Given the description of an element on the screen output the (x, y) to click on. 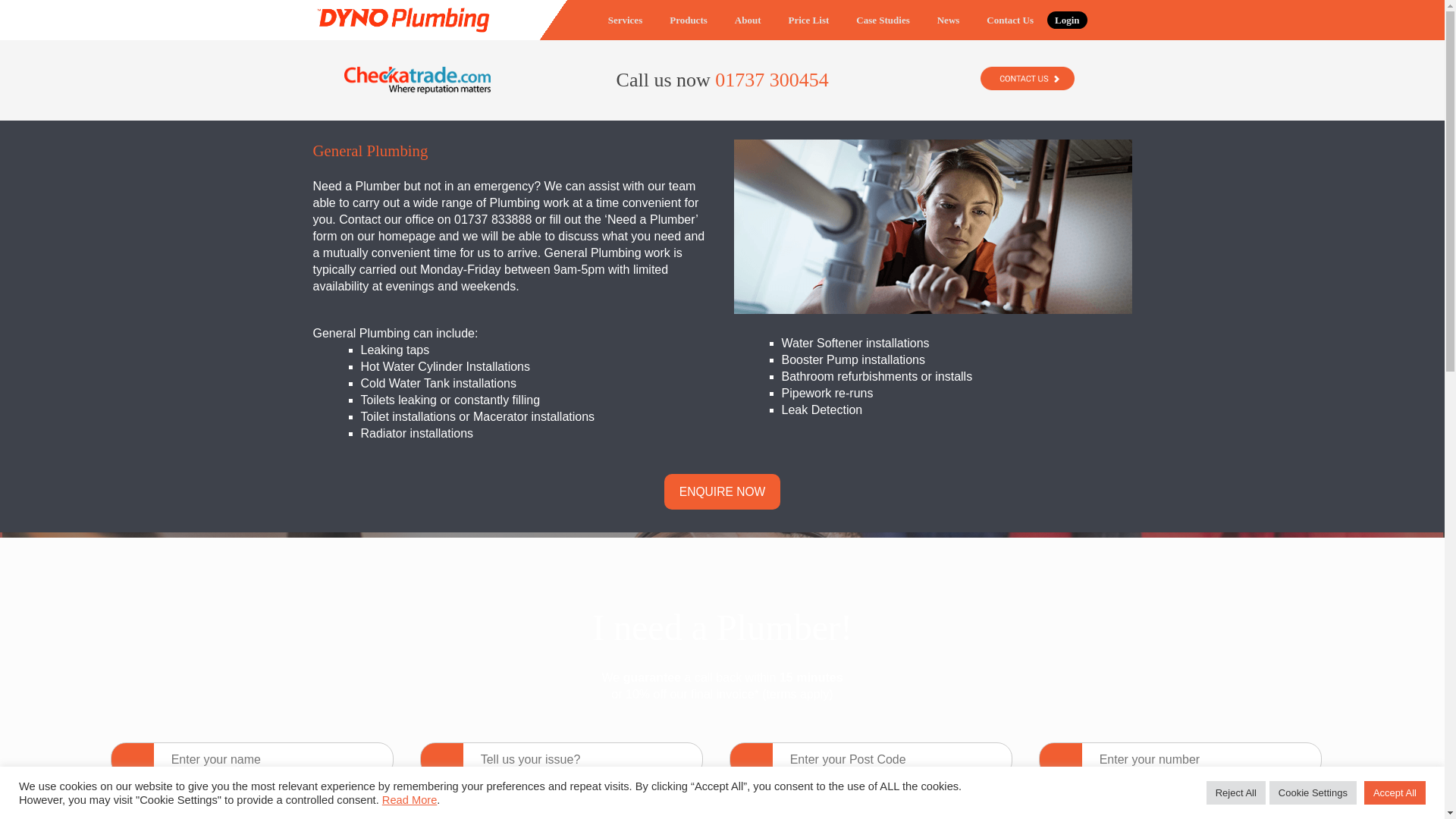
Login (1066, 19)
About (747, 20)
Products (688, 20)
News (948, 20)
CALL ME BACK (716, 803)
ENQUIRE NOW (721, 491)
Case Studies (883, 20)
Price List (808, 20)
CALL ME BACK (716, 803)
Services (625, 20)
